Given the description of an element on the screen output the (x, y) to click on. 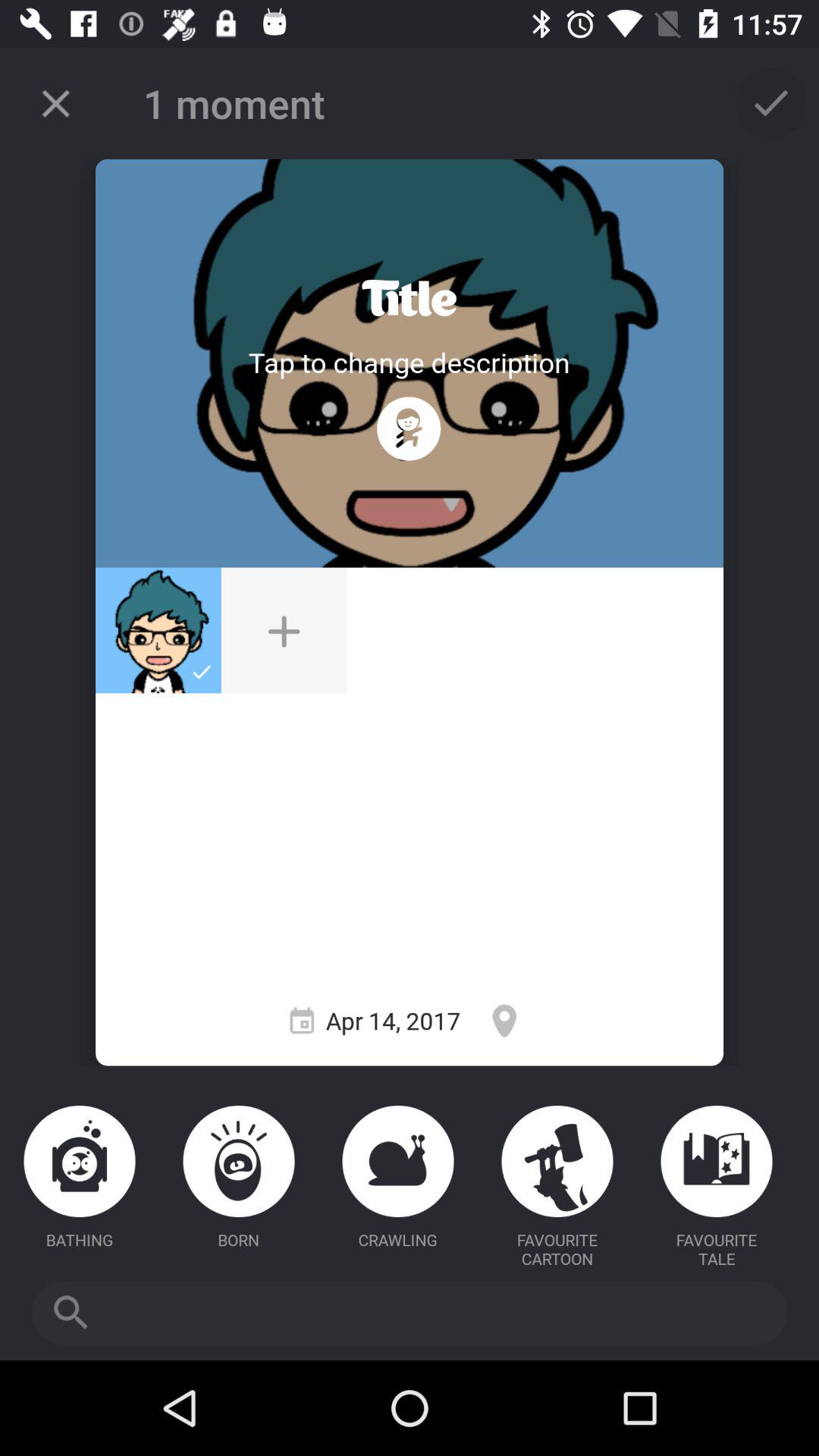
press item below the favourite
cartoon (409, 1312)
